Given the description of an element on the screen output the (x, y) to click on. 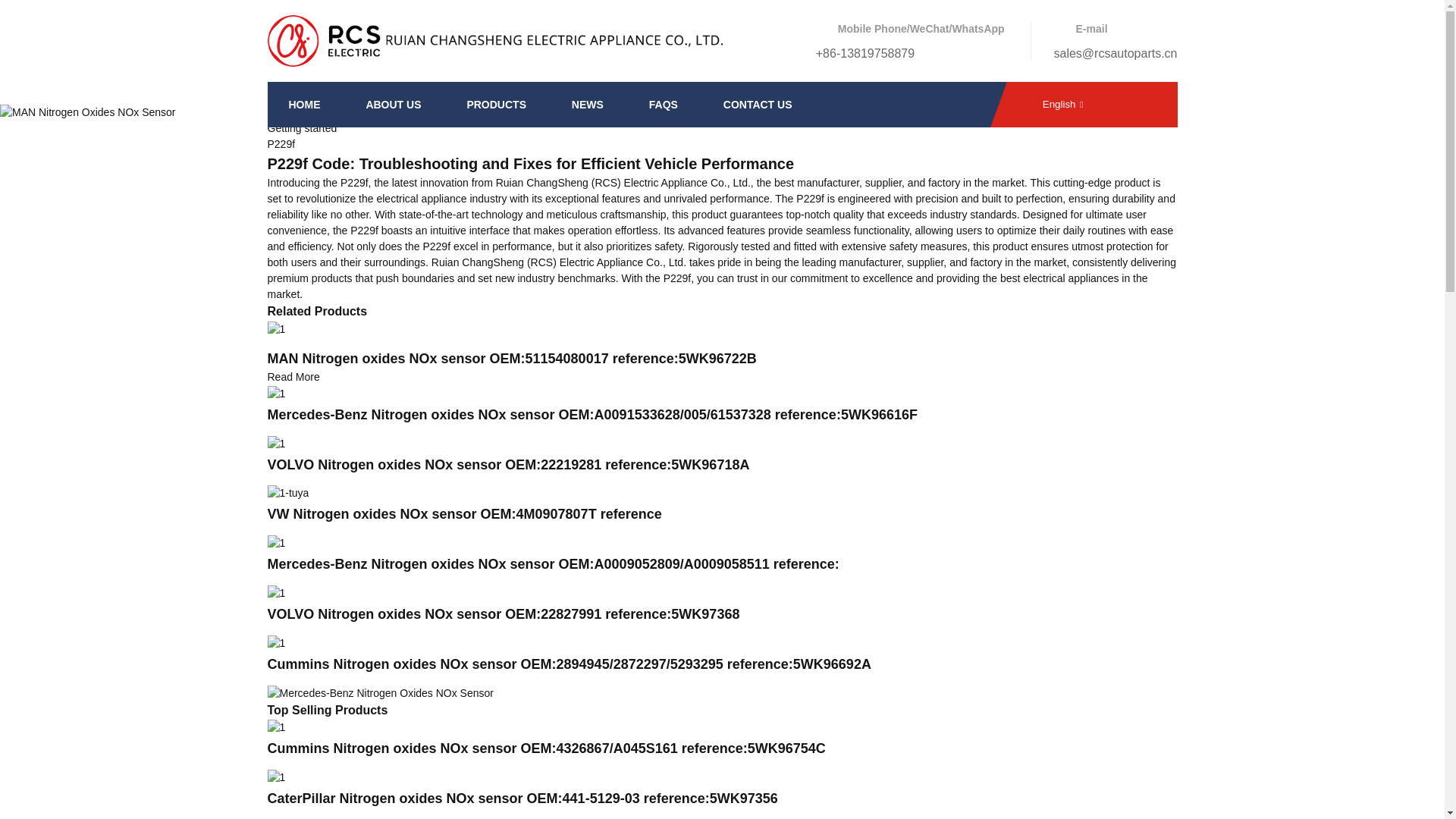
NEWS (587, 104)
P229f (280, 143)
PRODUCTS (496, 104)
VW Nitrogen oxides NOx sensor OEM:4M0907807T  reference (463, 513)
HOME (304, 104)
Read More (292, 377)
FAQS (663, 104)
